Given the description of an element on the screen output the (x, y) to click on. 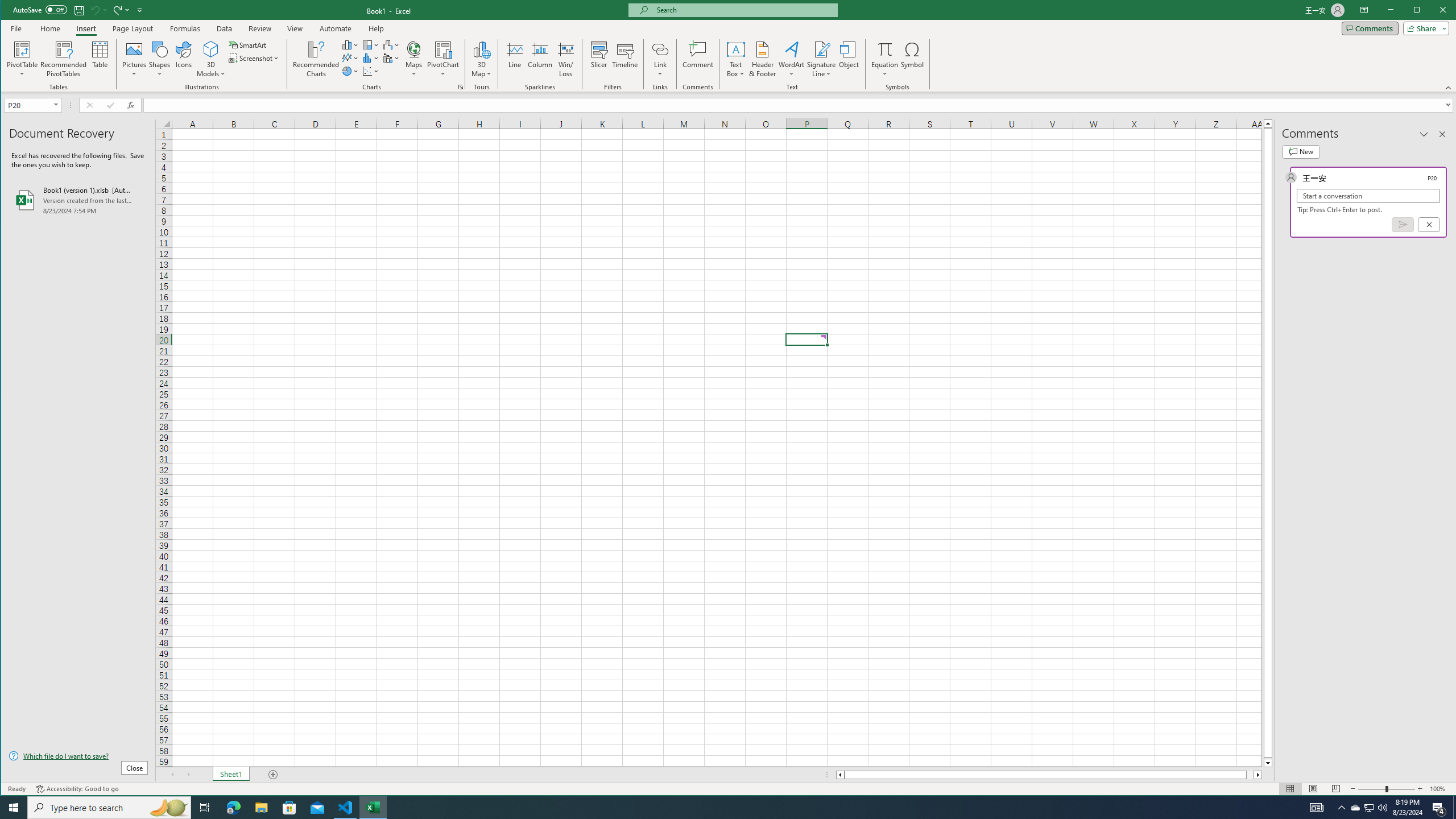
3D Map (481, 48)
View (294, 28)
Symbol... (912, 59)
PivotChart (443, 59)
Screenshot (254, 57)
Name Box (27, 104)
